Given the description of an element on the screen output the (x, y) to click on. 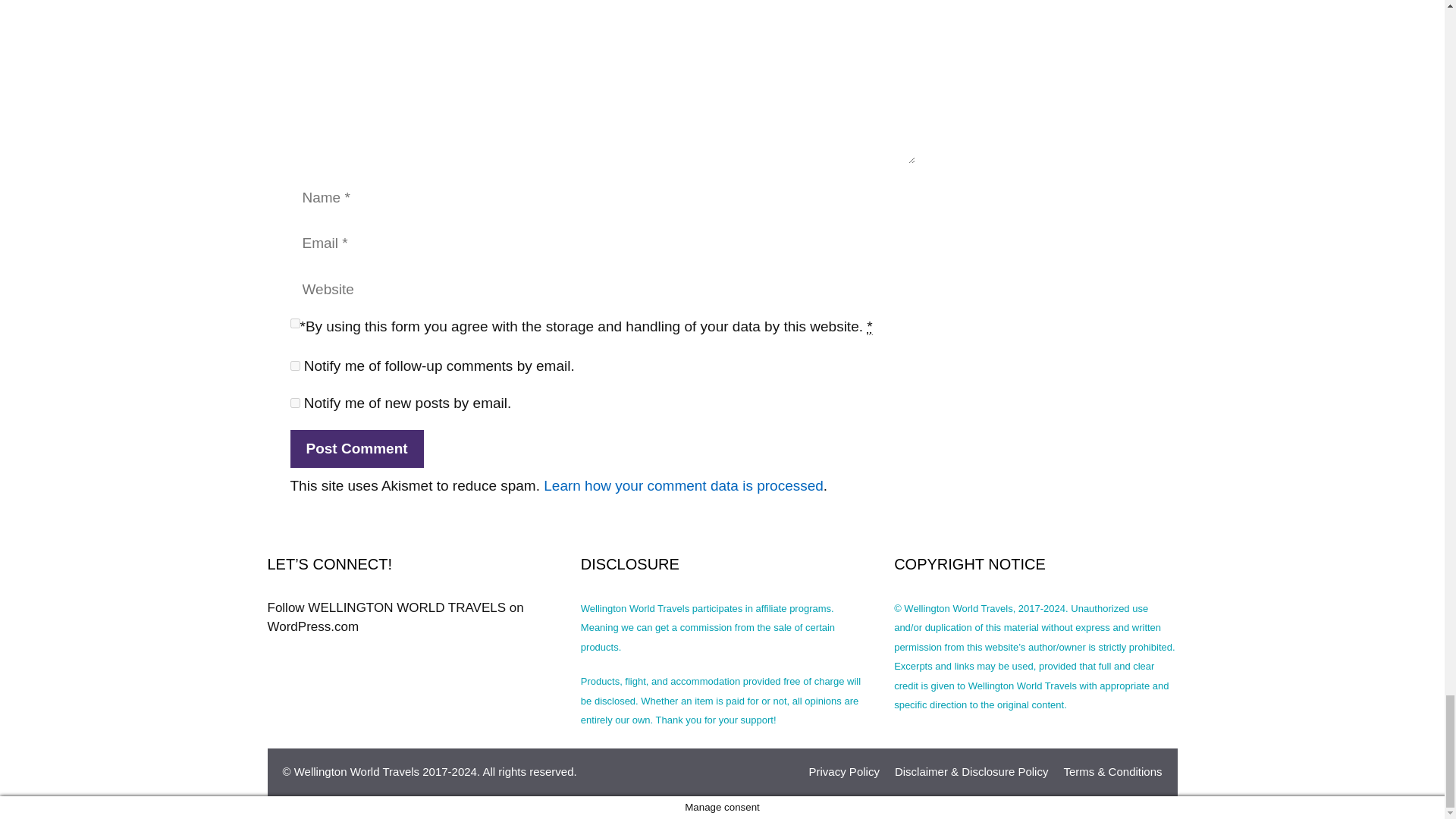
subscribe (294, 402)
Post Comment (356, 448)
subscribe (294, 366)
